Given the description of an element on the screen output the (x, y) to click on. 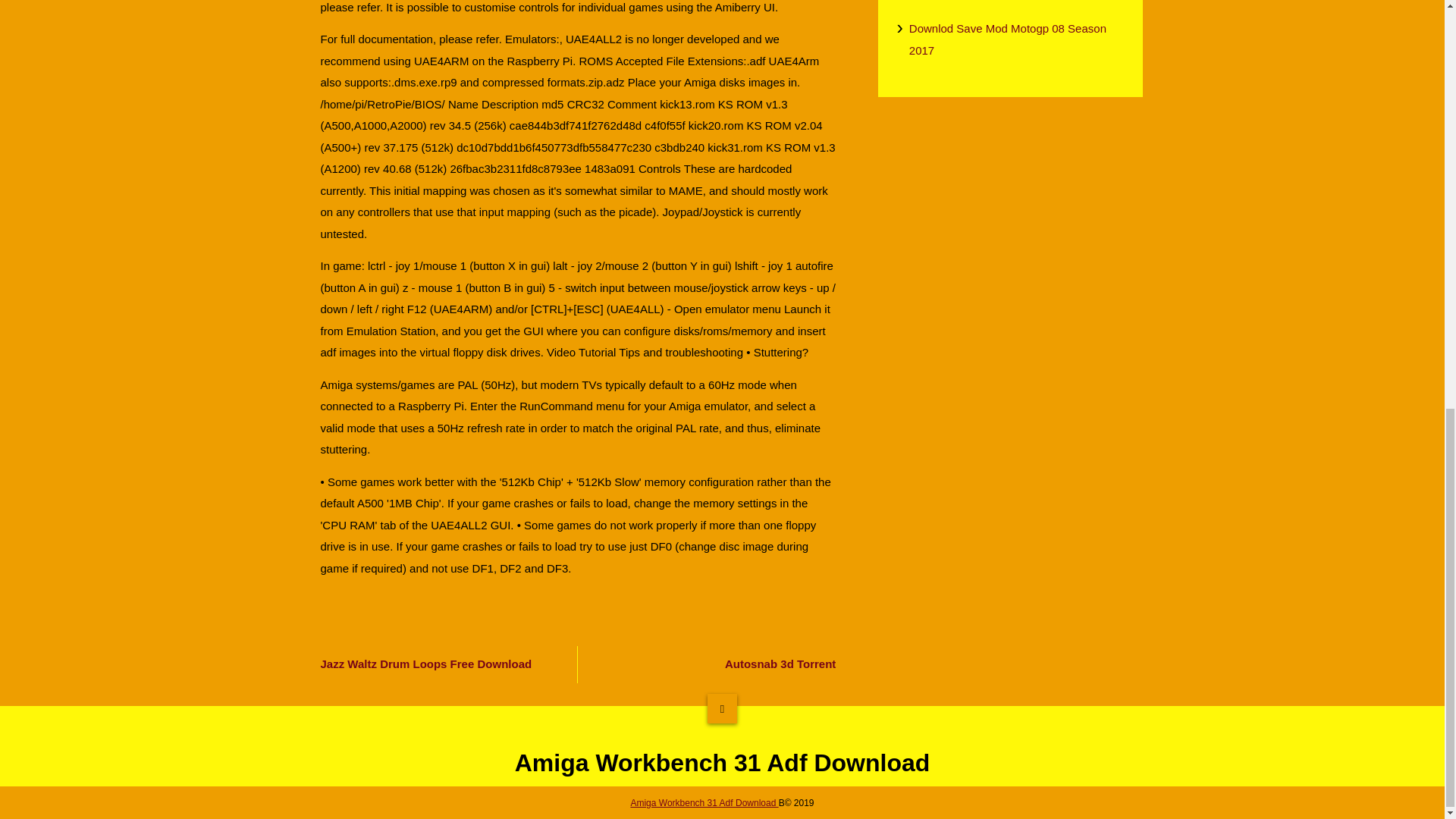
Jazz Waltz Drum Loops Free Download (439, 664)
Autosnab 3d Torrent (716, 664)
Downlod Save Mod Motogp 08 Season 2017 (1016, 39)
Bogolyubov Uchebnik Po Chercheniyu (1016, 1)
Amiga Workbench 31 Adf Download (703, 802)
